Given the description of an element on the screen output the (x, y) to click on. 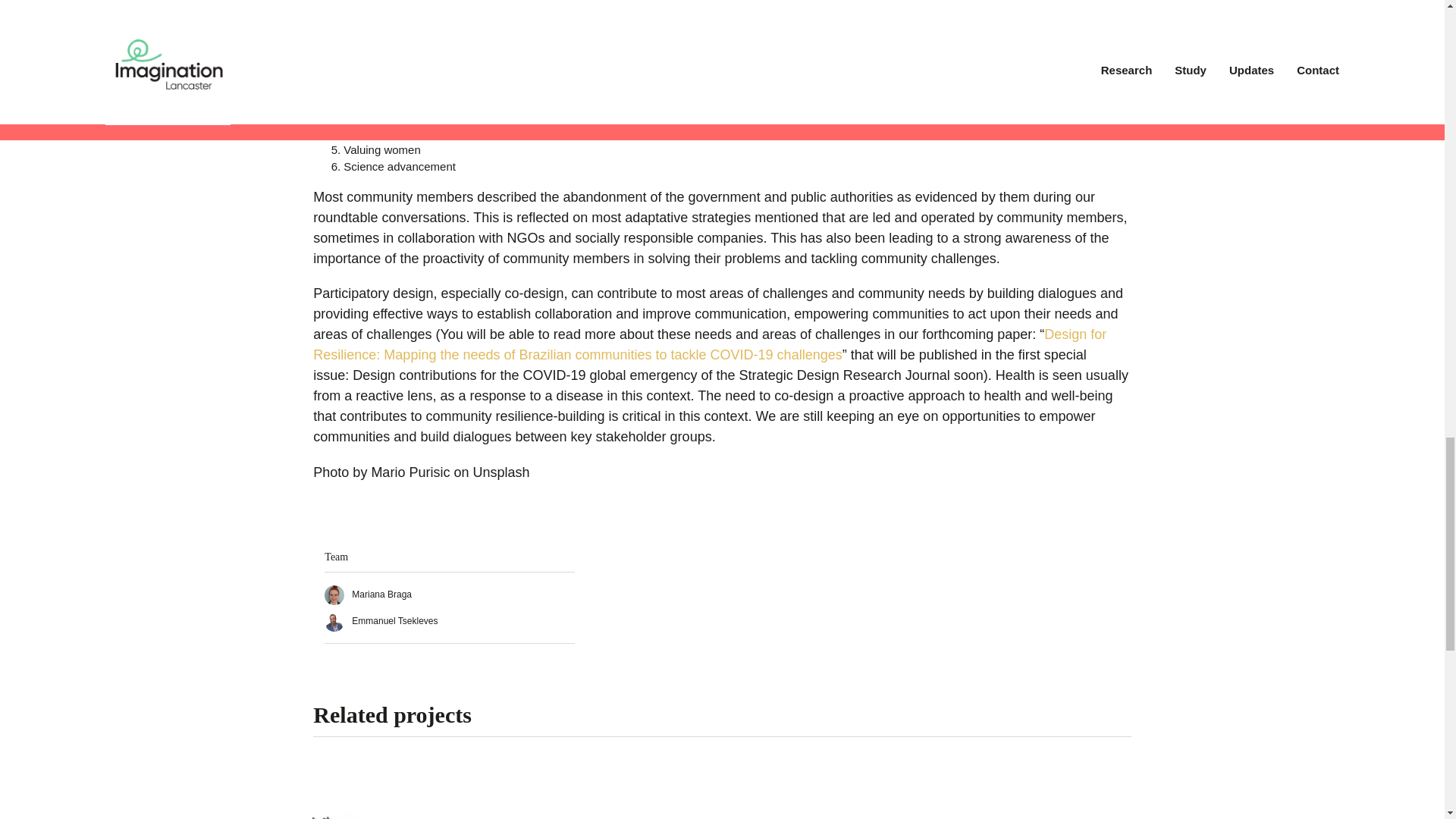
Mariana Braga (368, 593)
Emmanuel Tsekleves (381, 620)
